Given the description of an element on the screen output the (x, y) to click on. 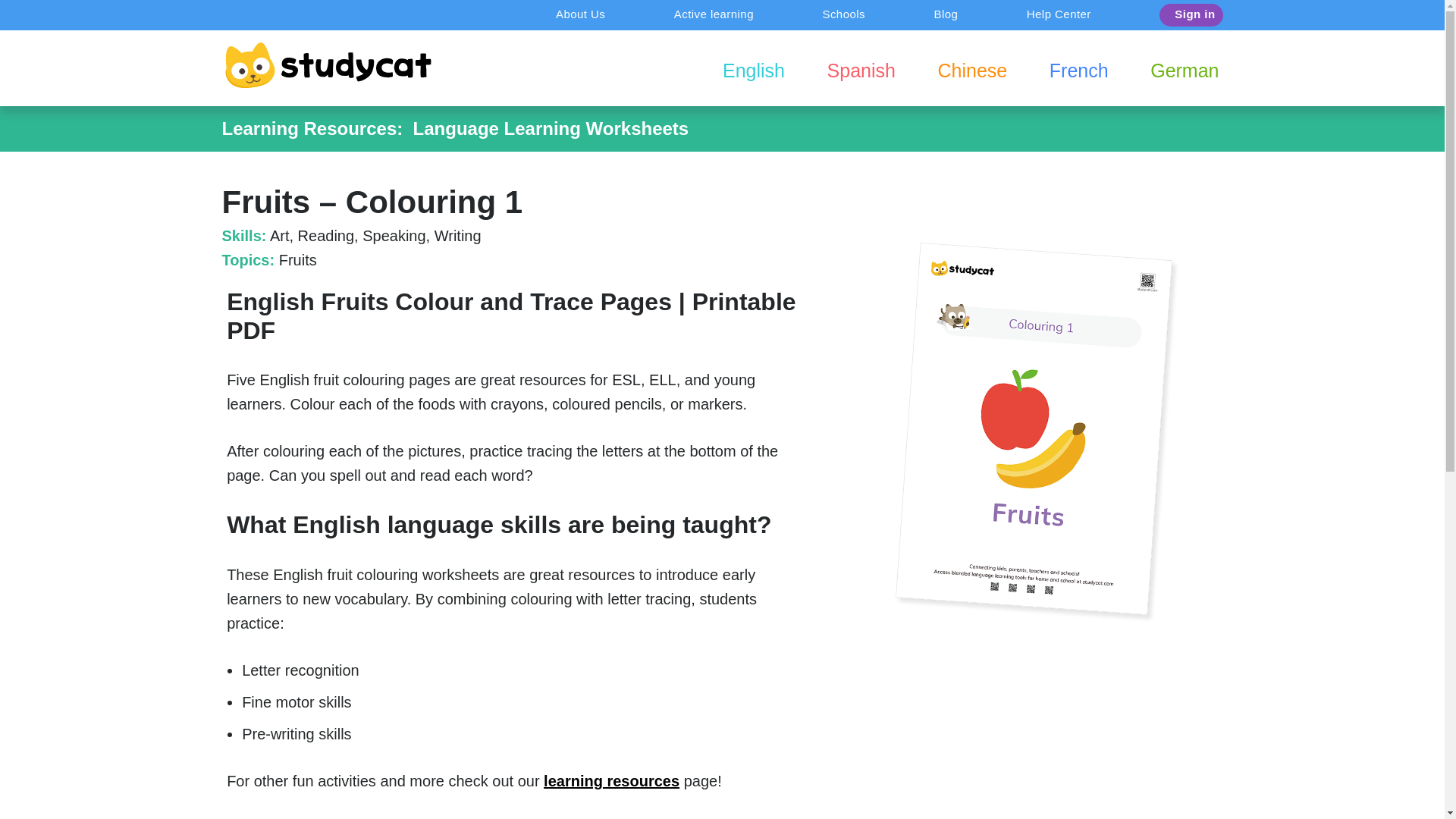
English (754, 70)
Language Learning Worksheets (550, 127)
Learning Resources (308, 127)
Spanish (861, 70)
Schools (843, 15)
German (1185, 70)
French (1078, 70)
learning resources (611, 781)
Studycat (327, 64)
Active learning (714, 15)
